Given the description of an element on the screen output the (x, y) to click on. 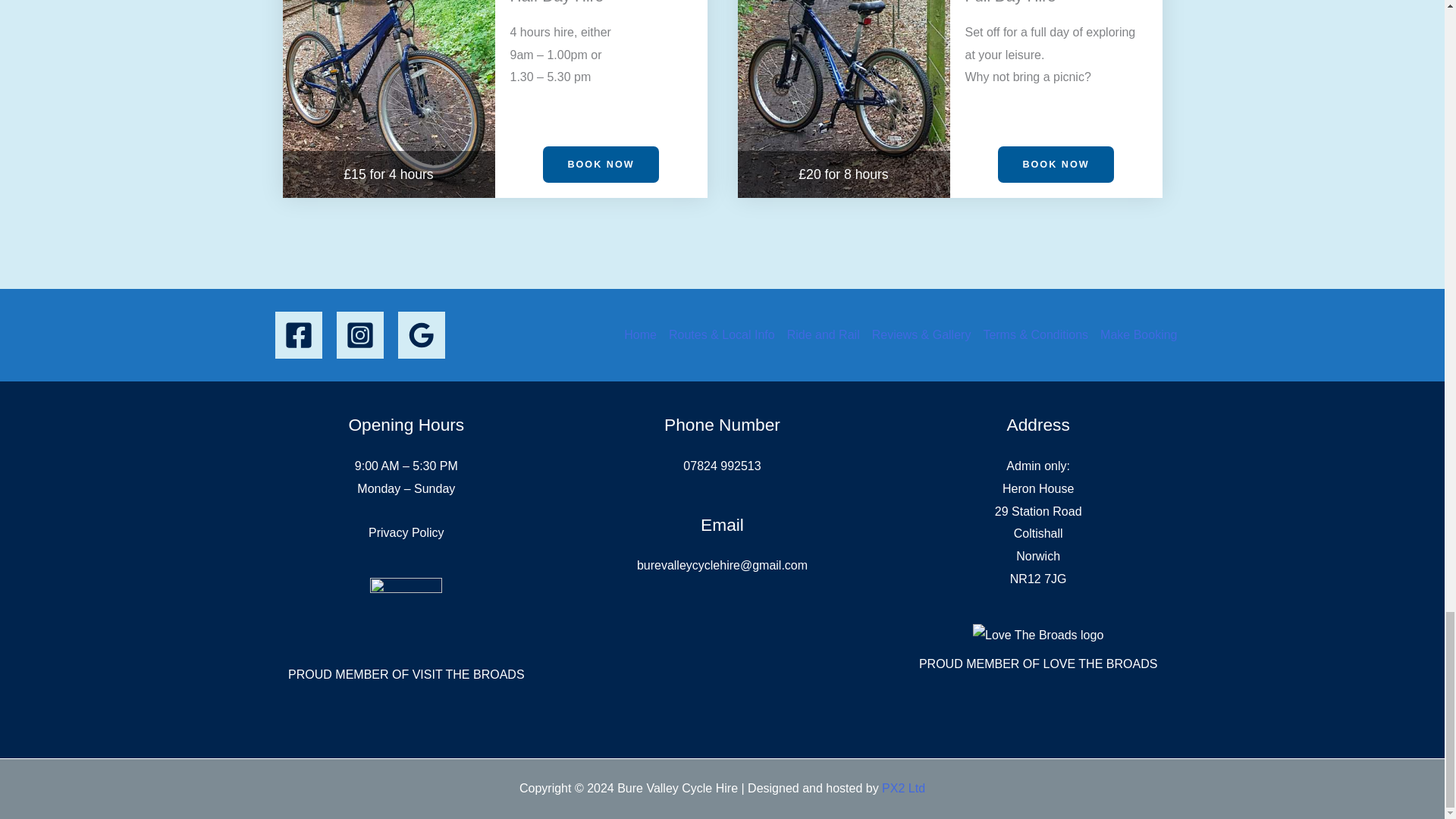
Privacy Policy (406, 532)
Ride and Rail (823, 323)
Make Booking (1135, 323)
PX2 Ltd (903, 788)
BOOK NOW (600, 164)
BOOK NOW (1055, 164)
Home (643, 323)
